Given the description of an element on the screen output the (x, y) to click on. 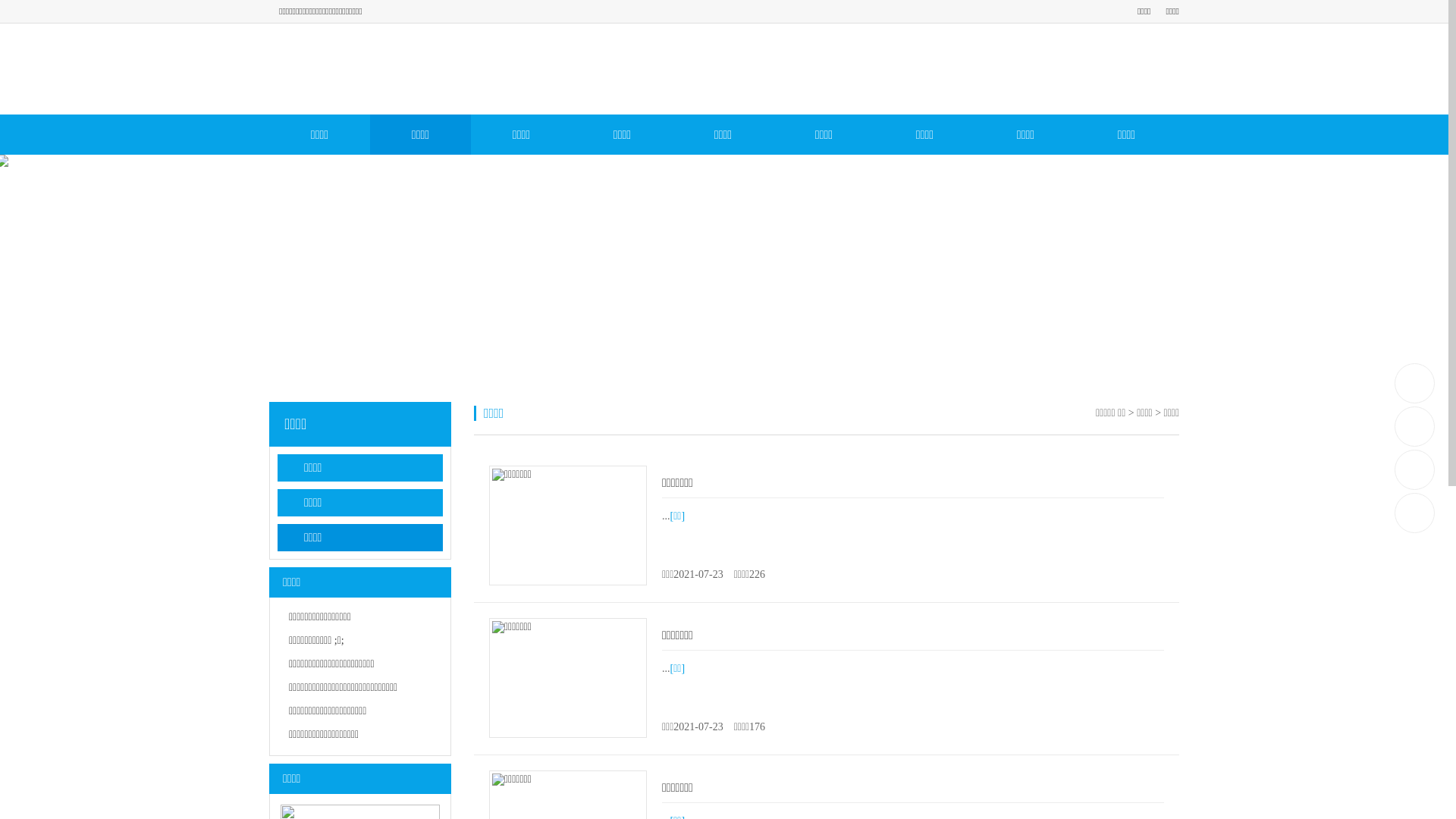
137-1929-7992 Element type: text (1415, 383)
